Given the description of an element on the screen output the (x, y) to click on. 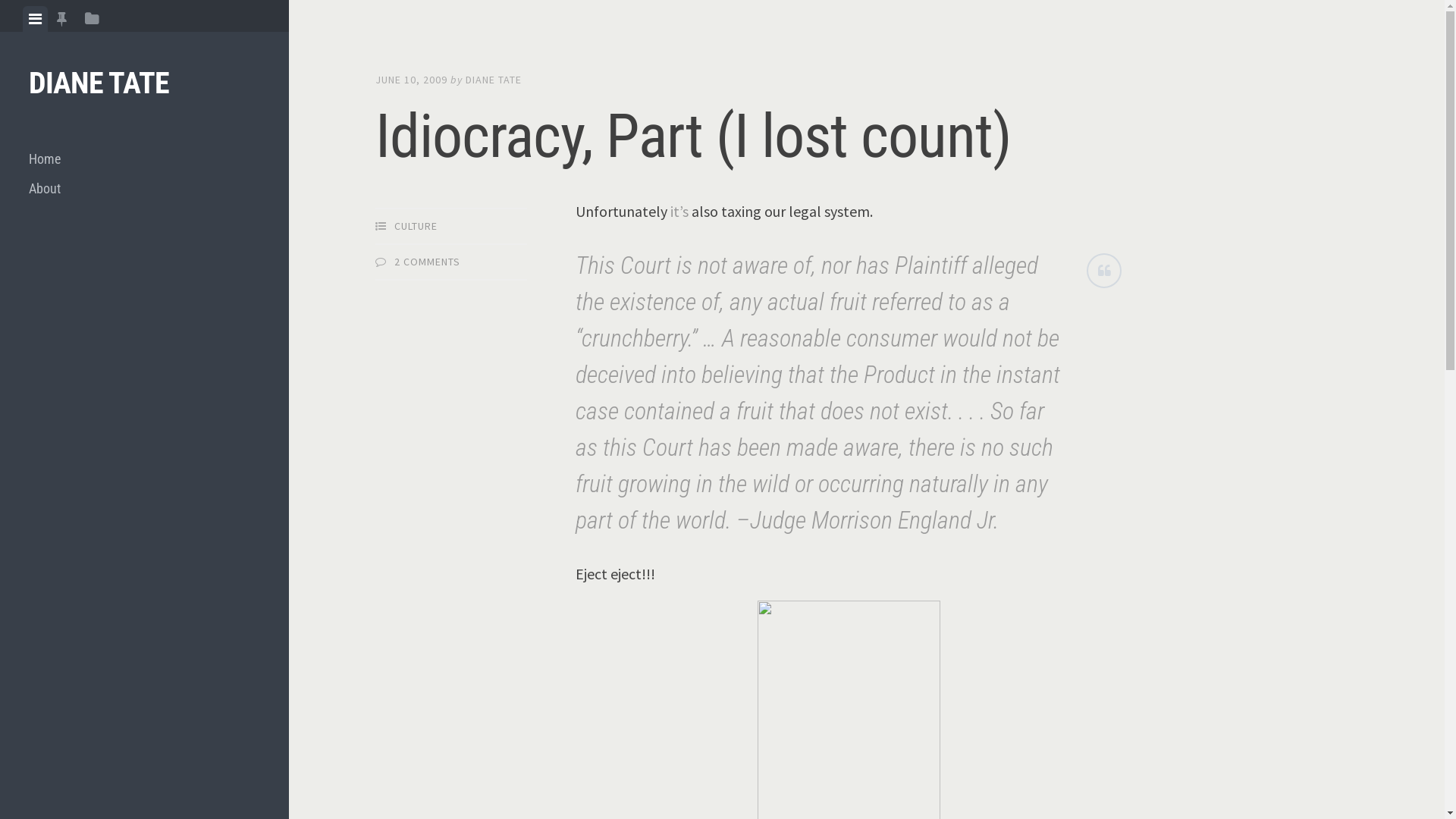
2 COMMENTS Element type: text (427, 261)
DIANE TATE Element type: text (493, 79)
DIANE TATE Element type: text (98, 82)
Home Element type: text (144, 158)
About Element type: text (144, 188)
JUNE 10, 2009 Element type: text (411, 79)
View sidebar Element type: text (91, 18)
View menu Element type: text (34, 18)
CULTURE Element type: text (415, 225)
View featured posts Element type: text (61, 18)
